Given the description of an element on the screen output the (x, y) to click on. 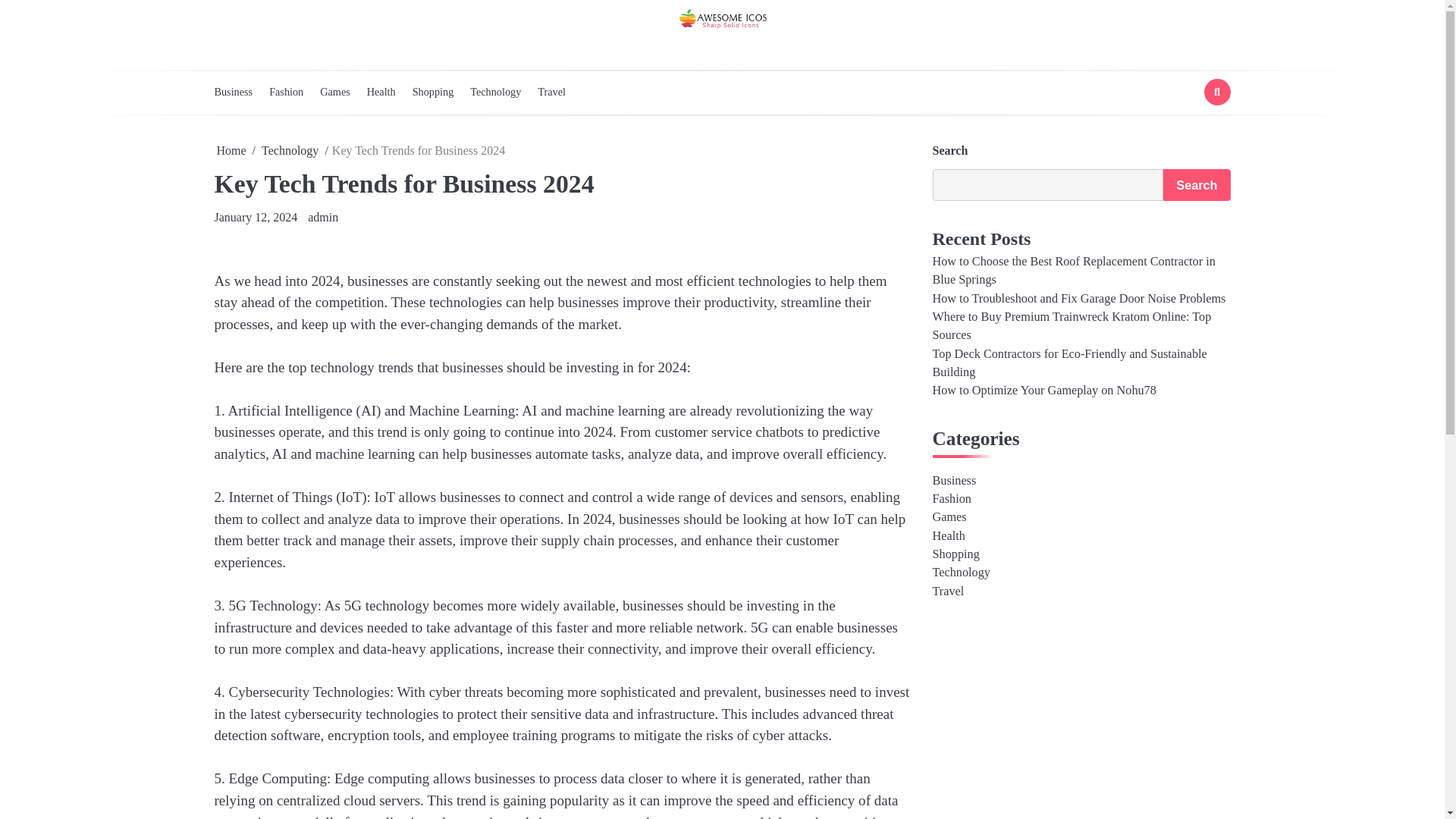
Business (241, 91)
Technology (961, 572)
Games (949, 517)
How to Troubleshoot and Fix Garage Door Noise Problems (1079, 298)
Health (949, 535)
Home (231, 150)
Fashion (952, 499)
Travel (948, 591)
Technology (503, 91)
admin (322, 216)
